Given the description of an element on the screen output the (x, y) to click on. 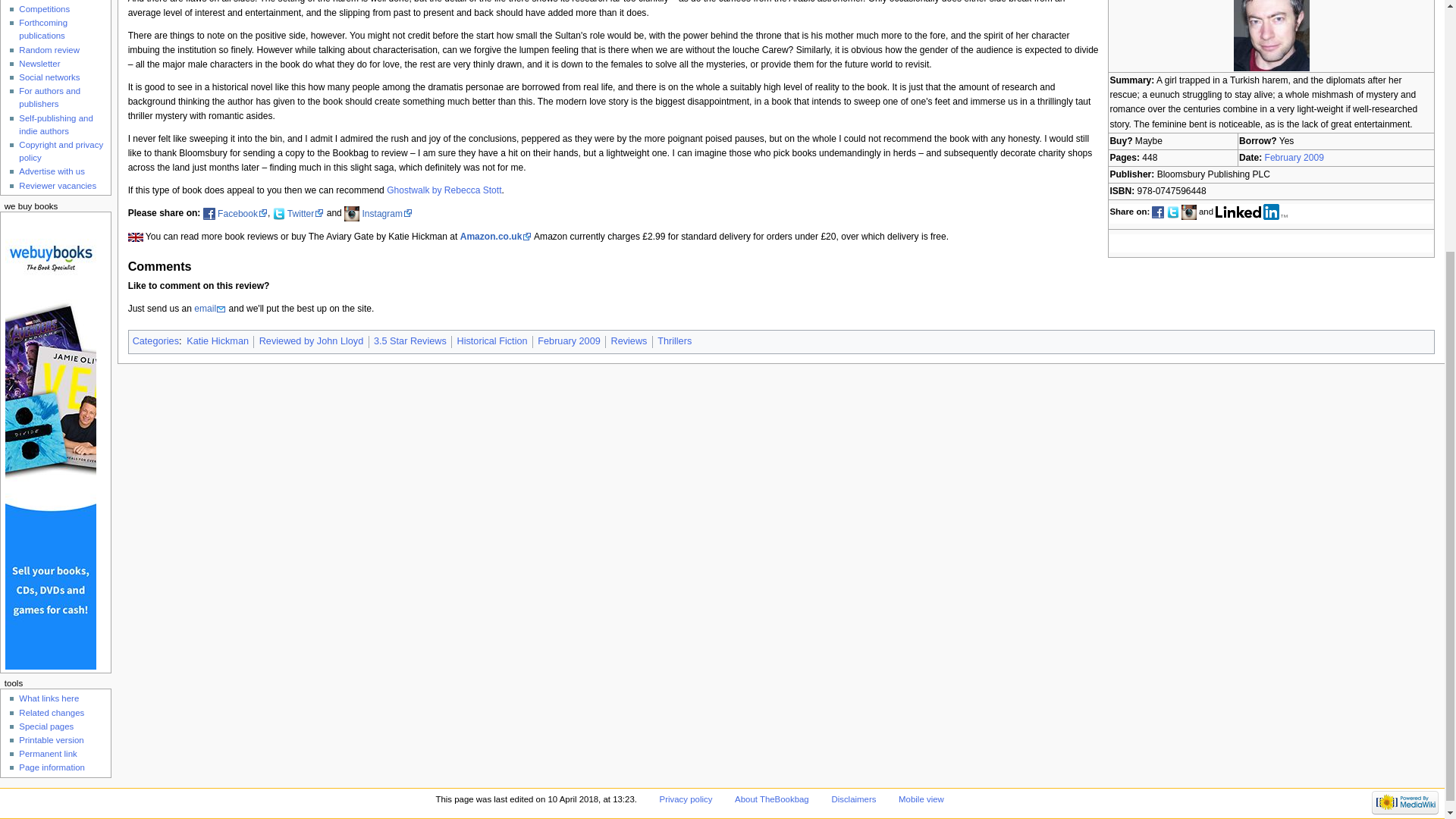
Twitter (304, 213)
Reviews (628, 340)
email (209, 308)
Category:Historical Fiction (492, 340)
Category:Thrillers (674, 340)
Instagram (387, 213)
3.5 Star Reviews (410, 340)
February 2009 (1294, 157)
Category:Reviews (628, 340)
Category:3.5 Star Reviews (410, 340)
Amazon.co.uk (496, 235)
Categories (155, 340)
Ghostwalk by Rebecca Stott (443, 190)
Ghostwalk by Rebecca Stott (443, 190)
Category:Reviewed by John Lloyd (311, 340)
